Given the description of an element on the screen output the (x, y) to click on. 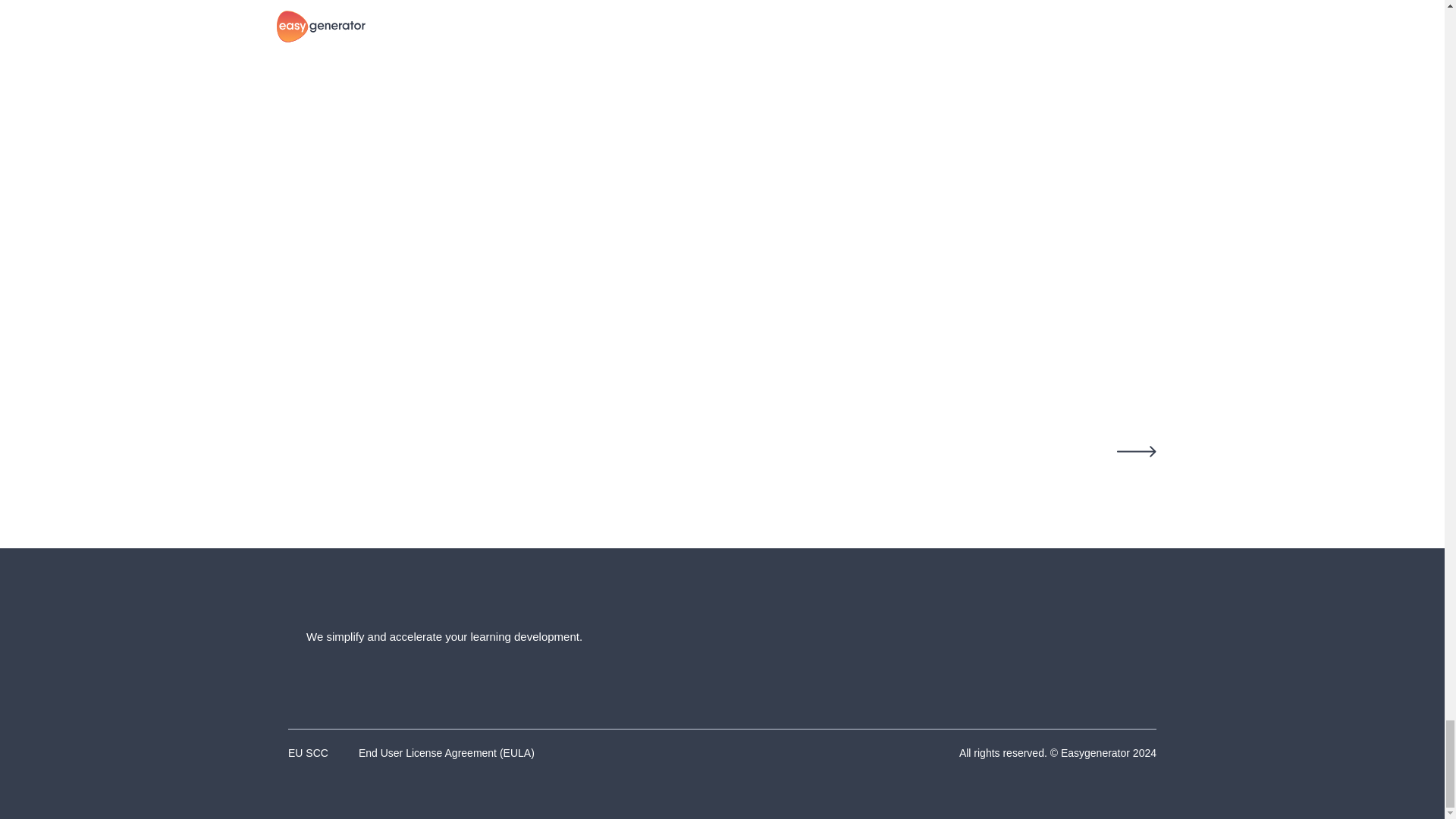
EU SCC (308, 752)
